Given the description of an element on the screen output the (x, y) to click on. 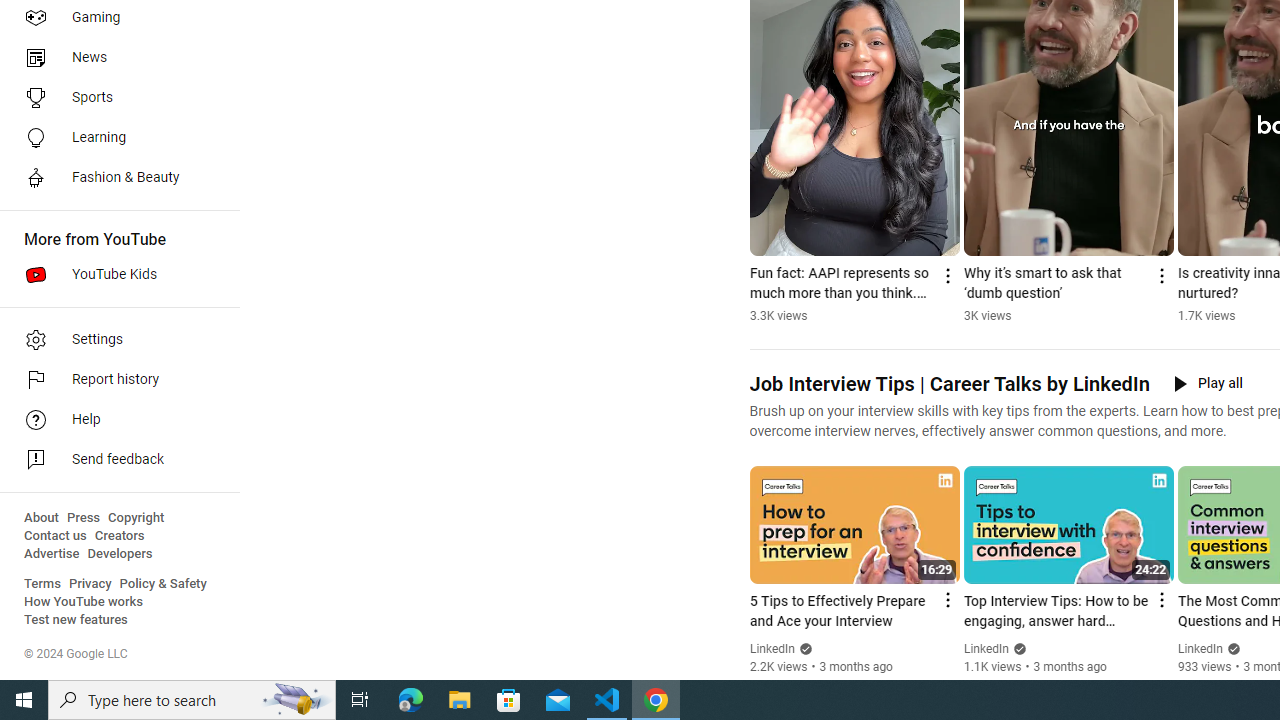
Policy & Safety (163, 584)
Settings (113, 339)
Fashion & Beauty (113, 177)
Developers (120, 554)
Help (113, 419)
How YouTube works (83, 602)
Play all (1208, 384)
Report history (113, 380)
Send feedback (113, 459)
Verified (1231, 647)
Contact us (55, 536)
LinkedIn (1200, 649)
Press (83, 518)
